Given the description of an element on the screen output the (x, y) to click on. 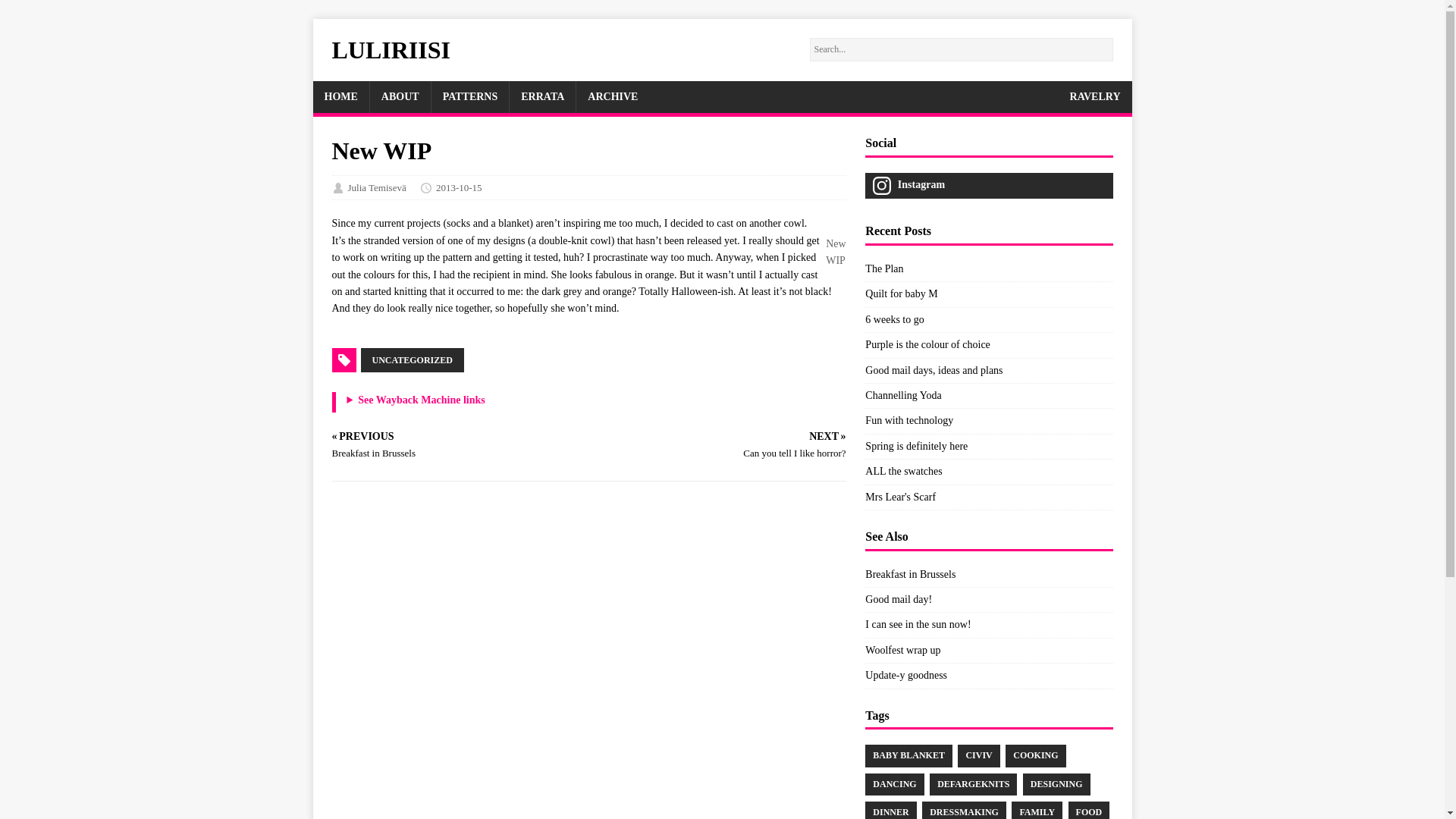
Good mail day! (897, 599)
DEFARGEKNITS (973, 784)
food (1088, 810)
Spring is definitely here (916, 446)
PATTERNS (469, 97)
FAMILY (1036, 810)
BABY BLANKET (908, 755)
CIVIV (978, 755)
Channelling Yoda (902, 395)
LULIRIISI (391, 49)
DefargeKnits (973, 784)
Purple is the colour of choice (927, 344)
Woolfest wrap up (902, 650)
ABOUT (399, 97)
DESIGNING (1056, 784)
